Given the description of an element on the screen output the (x, y) to click on. 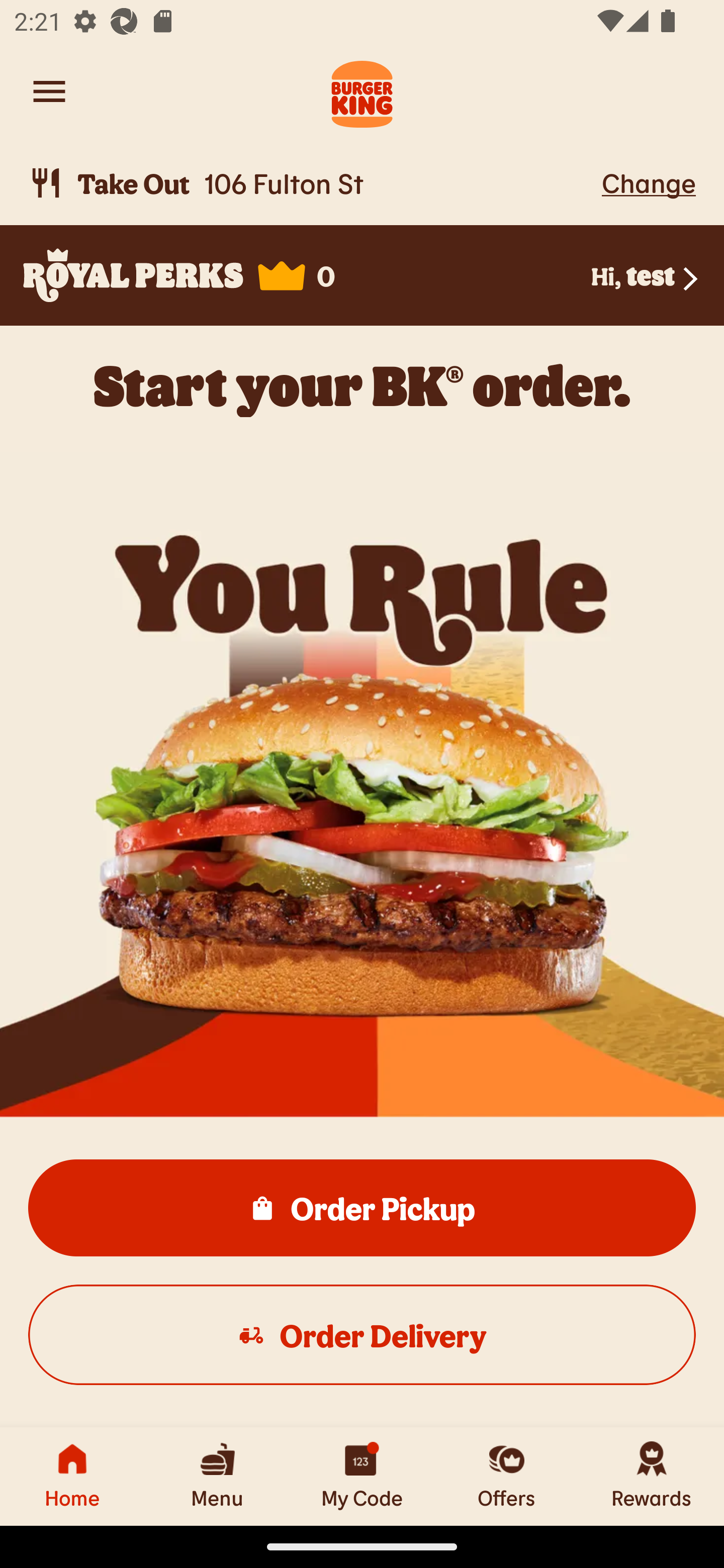
Burger King Logo. Navigate to Home (362, 91)
Navigate to account menu  (49, 91)
Take Out, 106 Fulton St  Take Out 106 Fulton St (311, 183)
Change (648, 182)
Start your BK® order. (361, 385)
, Order Pickup  Order Pickup (361, 1206)
, Order Delivery  Order Delivery (361, 1334)
Home (72, 1475)
Menu (216, 1475)
My Code (361, 1475)
Offers (506, 1475)
Rewards (651, 1475)
